Given the description of an element on the screen output the (x, y) to click on. 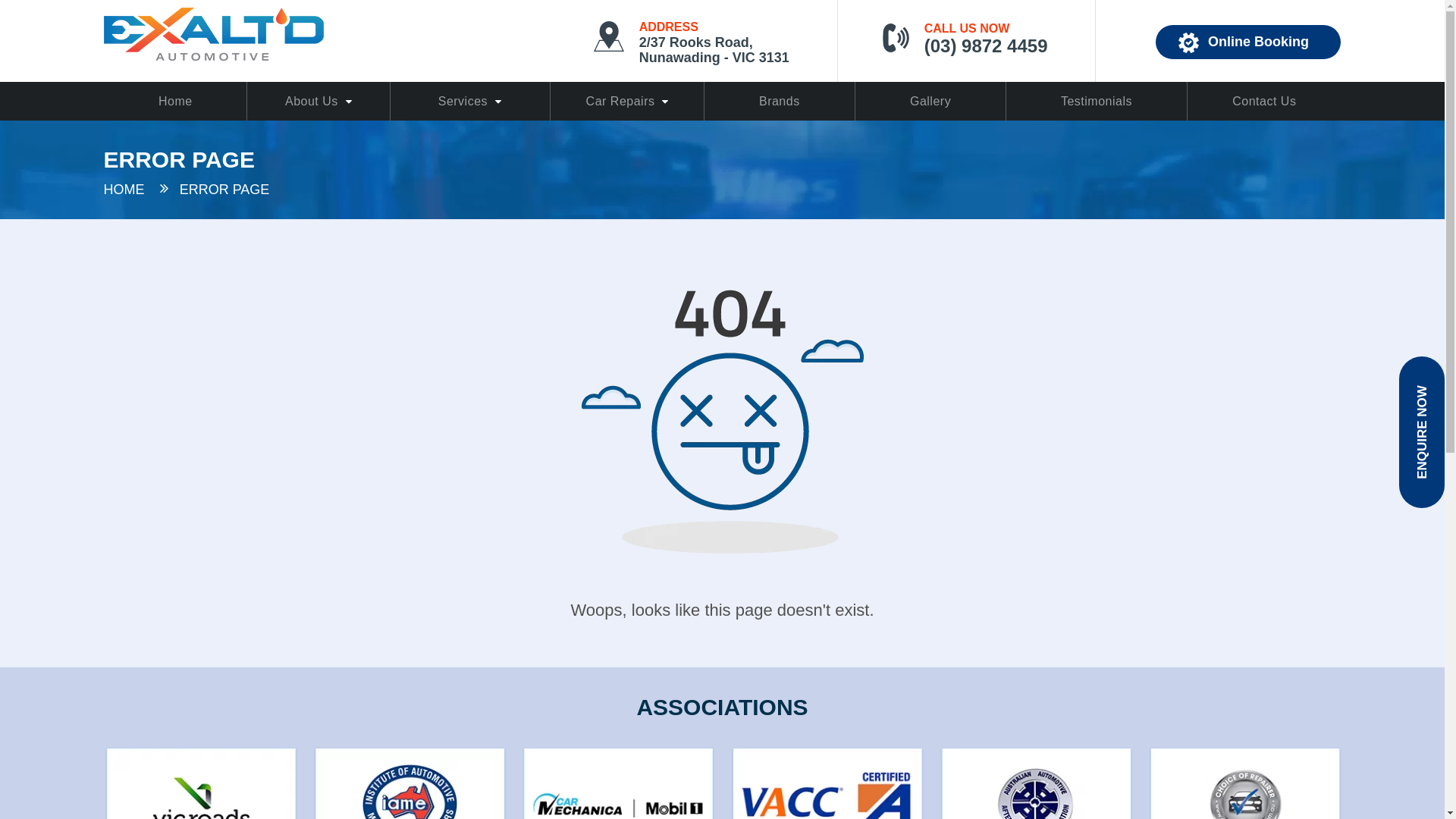
Brands Element type: text (779, 100)
Online Booking Element type: text (1247, 42)
About Us Element type: text (318, 100)
Exalt'd Automotive Element type: hover (213, 32)
Gallery Element type: text (930, 100)
Contact Us Element type: text (1264, 100)
Car Repairs Element type: text (627, 100)
HOME Element type: text (123, 189)
Home Element type: text (174, 100)
CALL US NOW
(03) 9872 4459 Element type: text (972, 46)
Services Element type: text (469, 100)
Testimonials Element type: text (1096, 100)
